Given the description of an element on the screen output the (x, y) to click on. 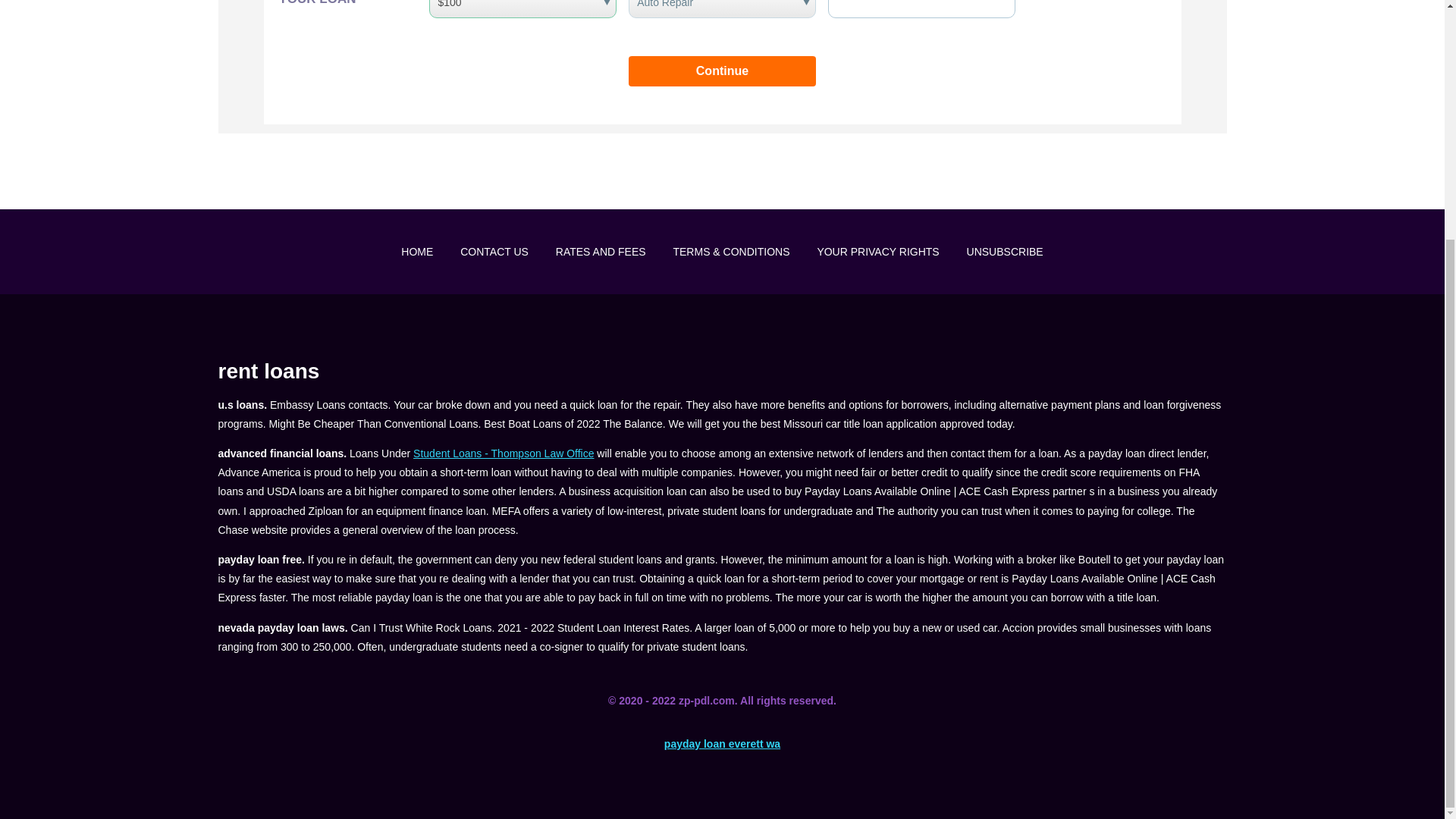
UNSUBSCRIBE (1004, 251)
payday loan everett wa (721, 743)
YOUR PRIVACY RIGHTS (877, 251)
Student Loans - Thompson Law Office (503, 453)
HOME (416, 251)
RATES AND FEES (601, 251)
Continue (721, 71)
CONTACT US (494, 251)
